Given the description of an element on the screen output the (x, y) to click on. 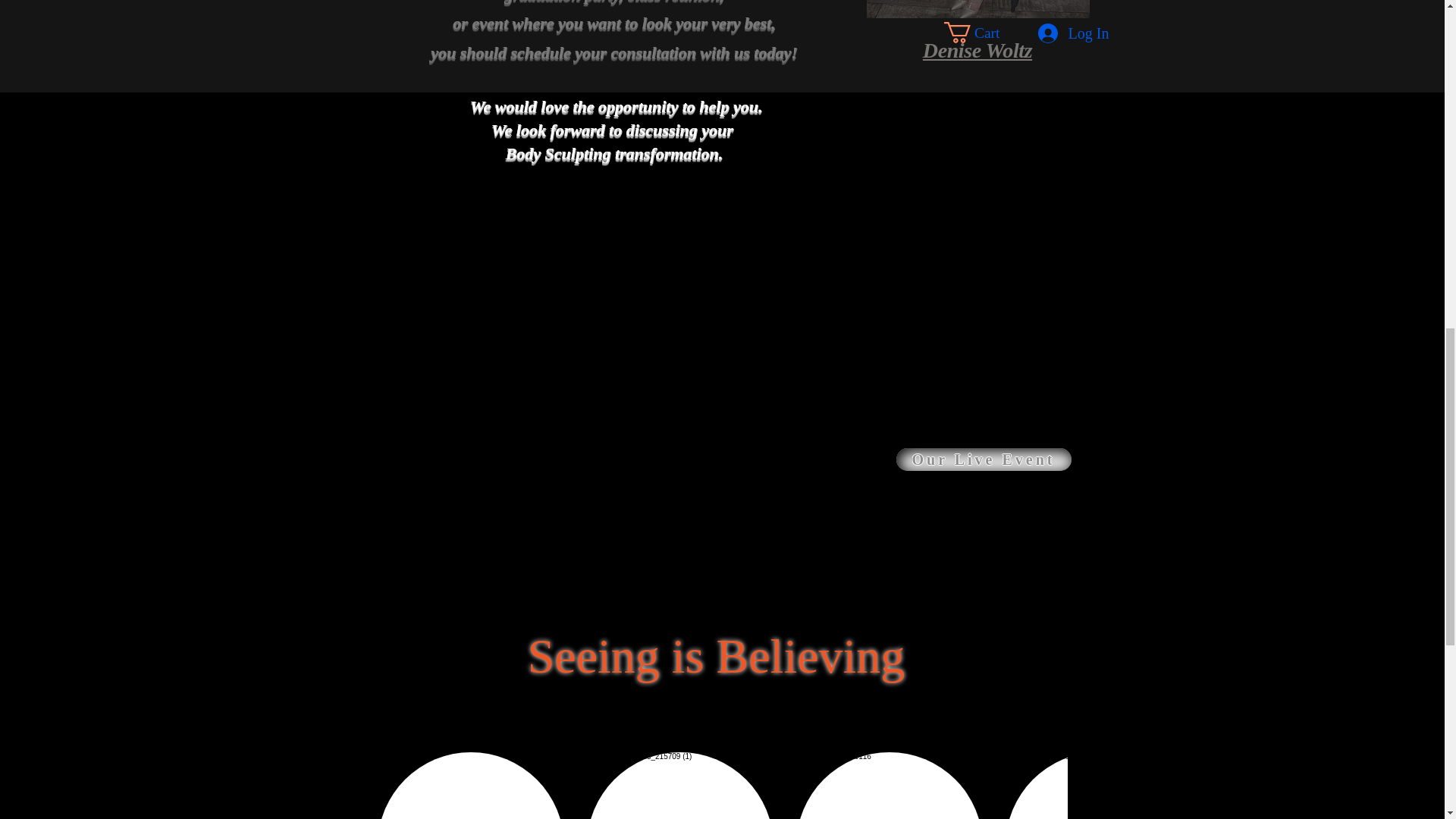
Our Live Event (983, 458)
Denise Woltz (977, 47)
